Given the description of an element on the screen output the (x, y) to click on. 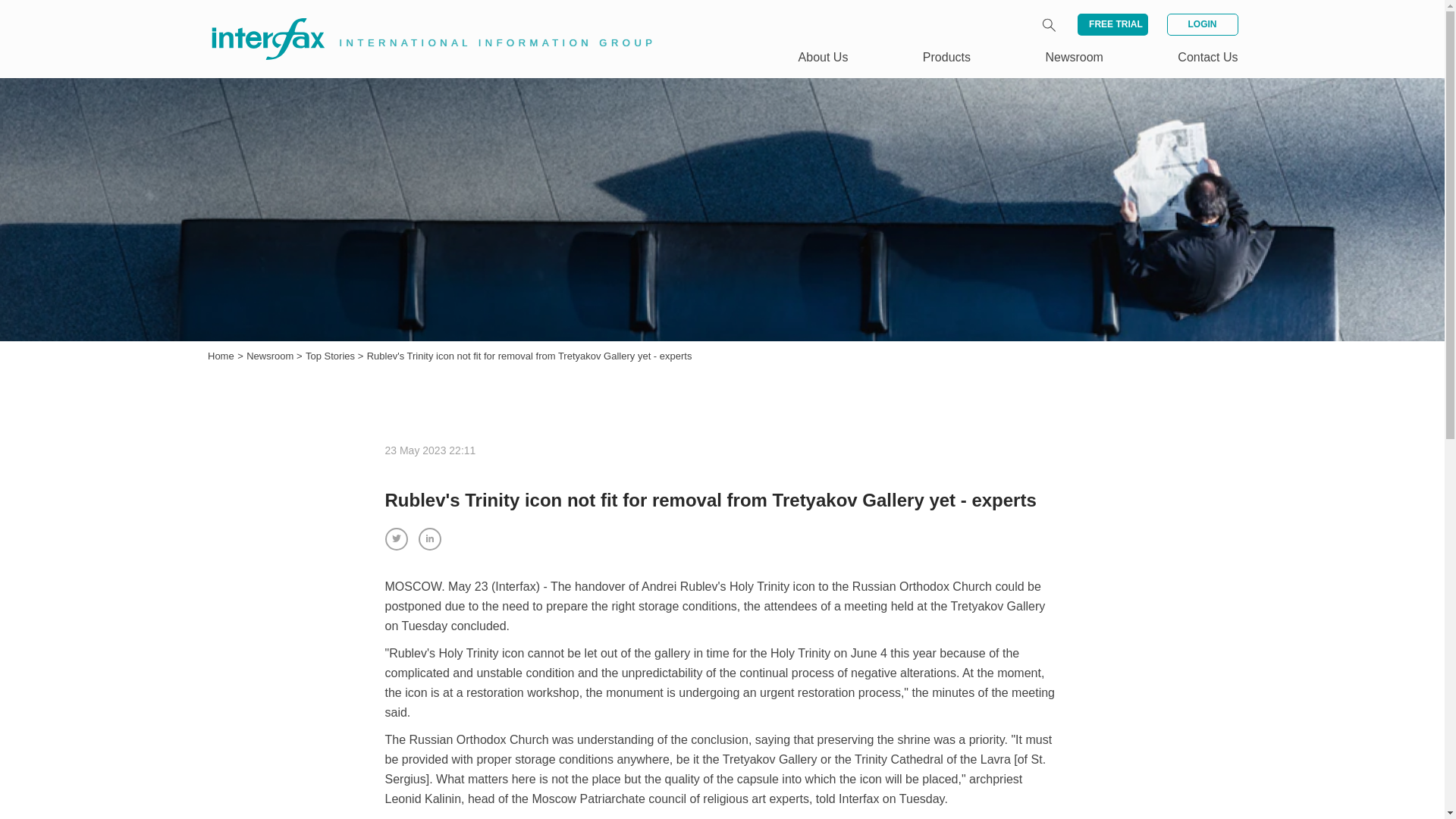
Top Stories (331, 355)
Products (947, 56)
LOGIN (1201, 24)
About Us (822, 56)
Newsroom (1073, 56)
FREE TRIAL (1112, 24)
INTERNATIONAL INFORMATION GROUP (421, 20)
Home (221, 355)
Contact Us (1207, 56)
Newsroom (271, 355)
Newsroom (271, 355)
Contact Us (1207, 56)
